Given the description of an element on the screen output the (x, y) to click on. 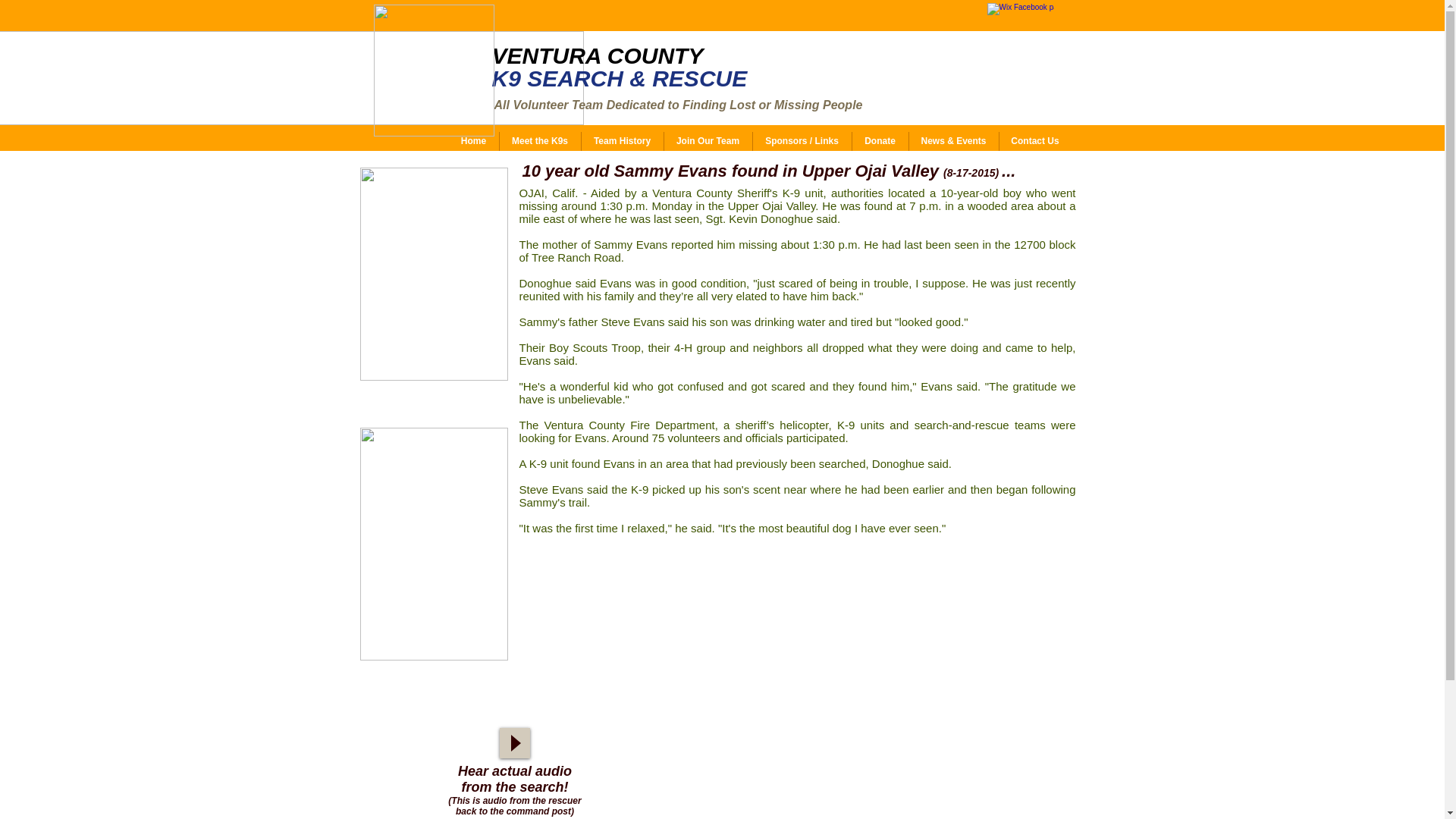
Join Our Team (706, 140)
Team History (621, 140)
Donate (878, 140)
Meet the K9s (539, 140)
Home (473, 140)
External YouTube (808, 747)
Contact Us (1033, 140)
